Given the description of an element on the screen output the (x, y) to click on. 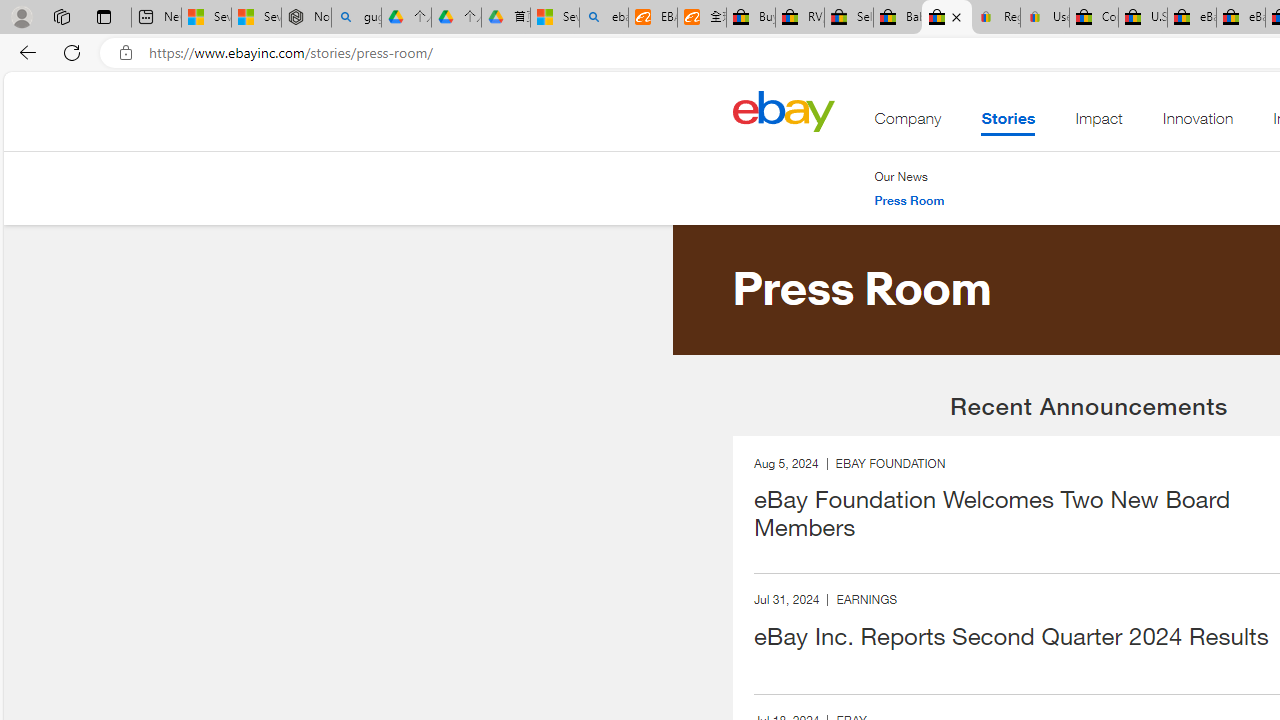
View site information (125, 53)
Consumer Health Data Privacy Policy - eBay Inc. (1093, 17)
ebay - Search (603, 17)
Buy Auto Parts & Accessories | eBay (750, 17)
Sell worldwide with eBay (848, 17)
Tab actions menu (104, 16)
Stories (1007, 123)
RV, Trailer & Camper Steps & Ladders for sale | eBay (799, 17)
Class: desktop (783, 110)
User Privacy Notice | eBay (1044, 17)
U.S. State Privacy Disclosures - eBay Inc. (1142, 17)
Back (24, 52)
